Given the description of an element on the screen output the (x, y) to click on. 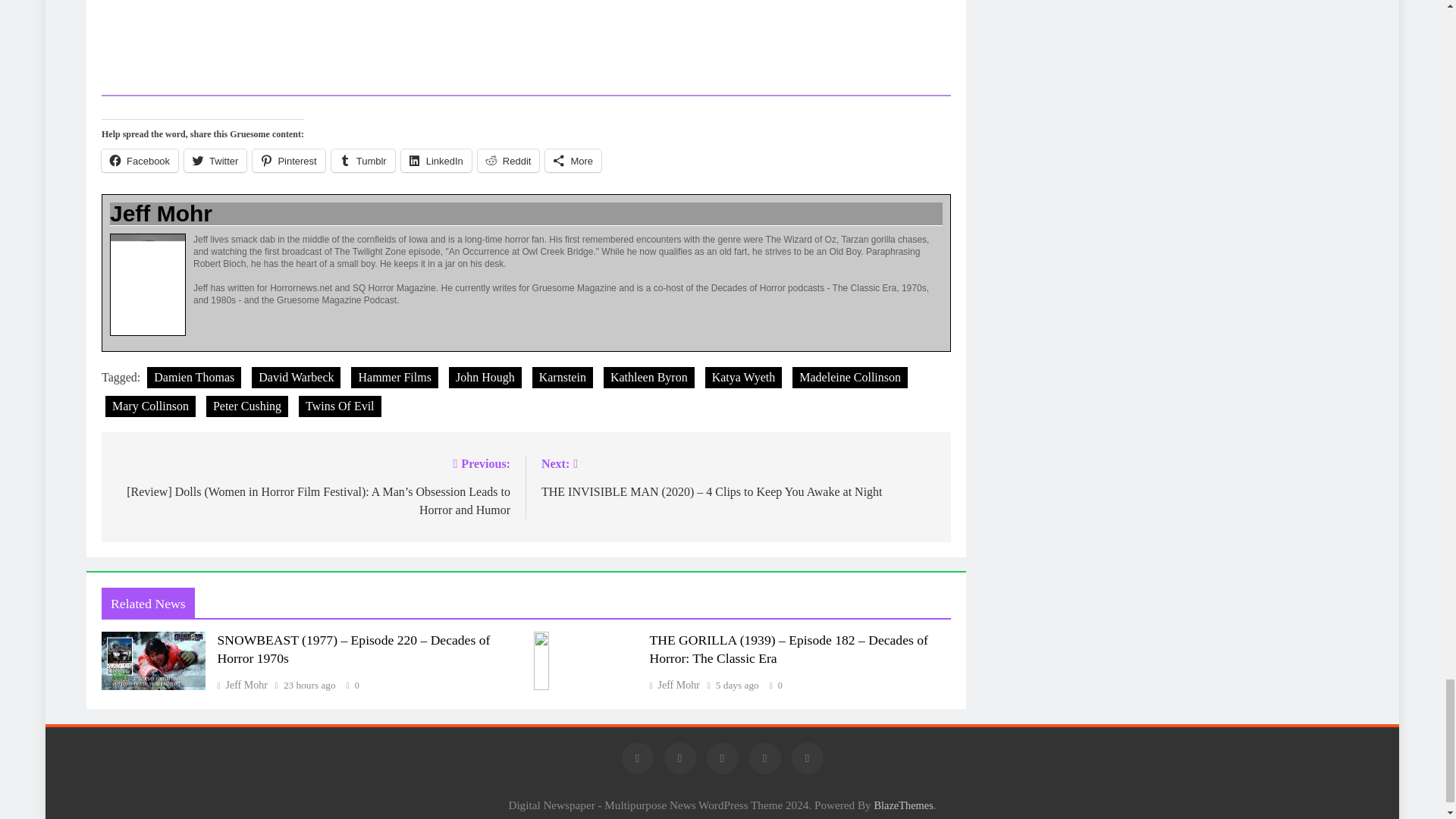
Click to share on LinkedIn (436, 160)
Click to share on Facebook (139, 160)
Click to share on Reddit (508, 160)
Click to share on Pinterest (287, 160)
Click to share on Twitter (215, 160)
Click to share on Tumblr (362, 160)
